Given the description of an element on the screen output the (x, y) to click on. 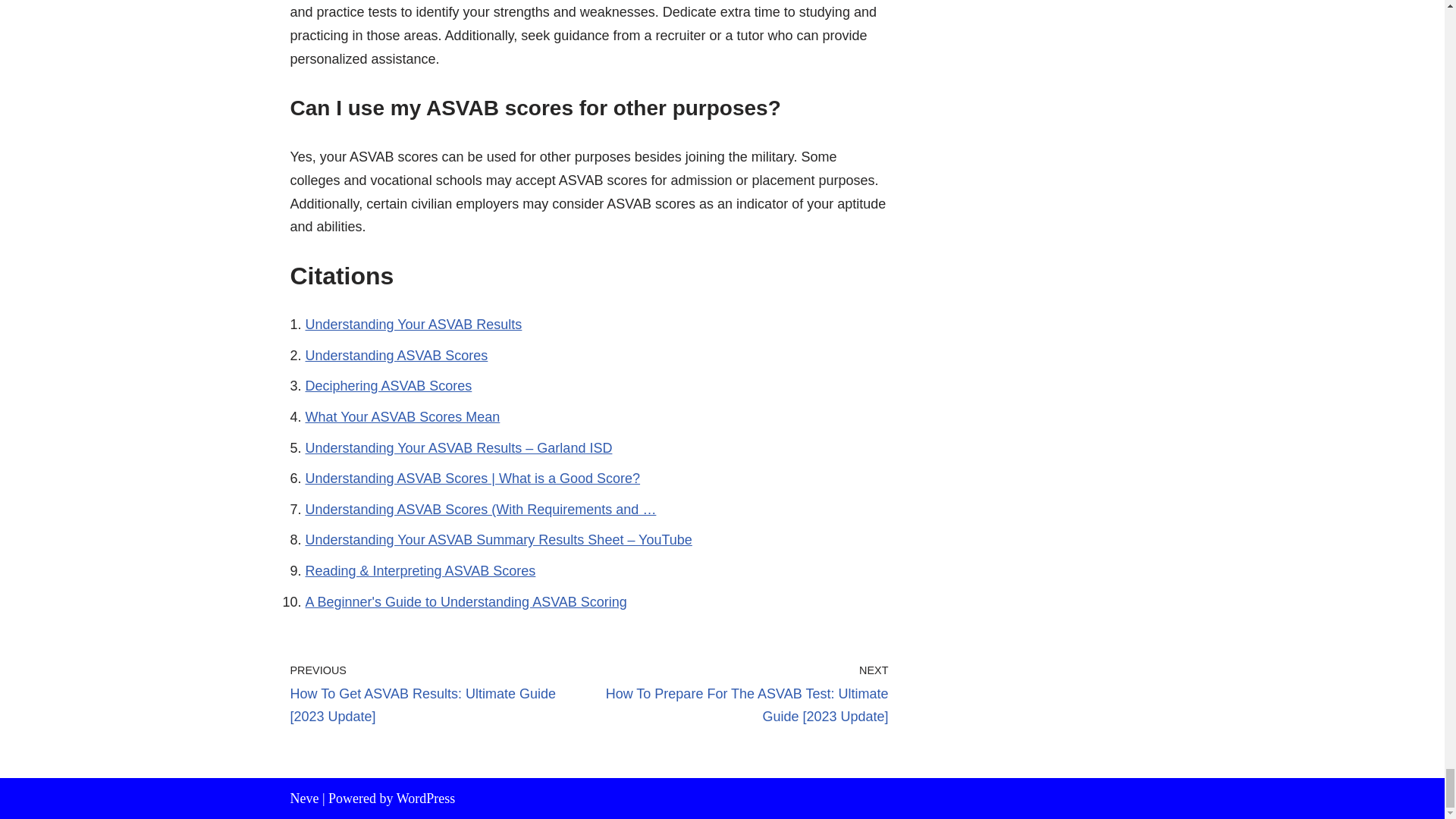
Understanding ASVAB Scores (395, 355)
A Beginner's Guide to Understanding ASVAB Scoring (465, 601)
What Your ASVAB Scores Mean (401, 417)
Deciphering ASVAB Scores (387, 385)
Understanding Your ASVAB Results (412, 324)
